Given the description of an element on the screen output the (x, y) to click on. 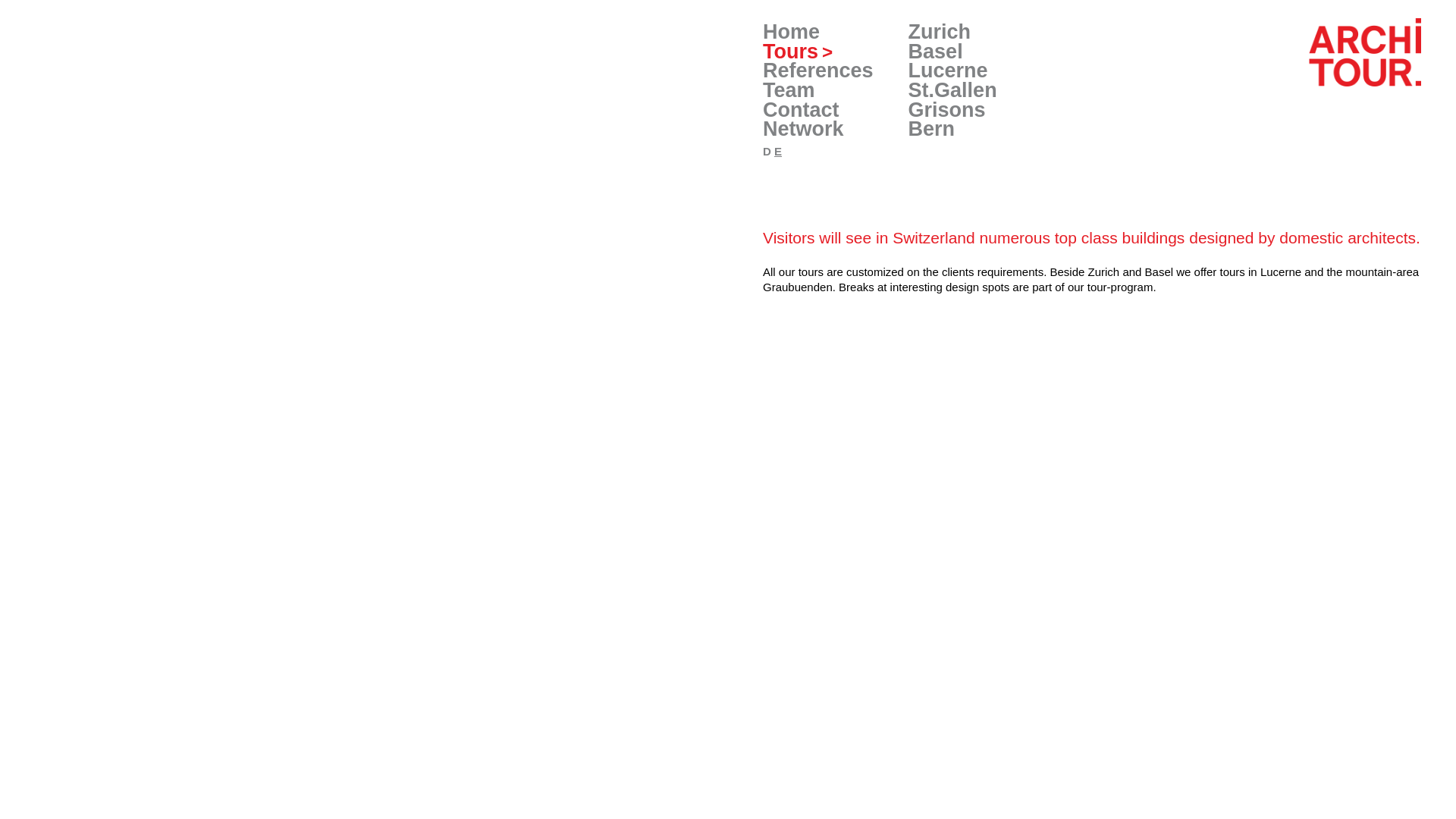
Basel Element type: text (935, 51)
Bern Element type: text (931, 128)
Grisons Element type: text (946, 109)
D Element type: text (766, 150)
Network Element type: text (803, 128)
Architour Element type: text (1311, 52)
Team Element type: text (788, 89)
E Element type: text (777, 150)
Zurich Element type: text (939, 31)
References Element type: text (817, 70)
St.Gallen Element type: text (952, 89)
Tours Element type: text (797, 51)
Home Element type: text (790, 31)
Lucerne Element type: text (948, 70)
Contact Element type: text (800, 109)
